Given the description of an element on the screen output the (x, y) to click on. 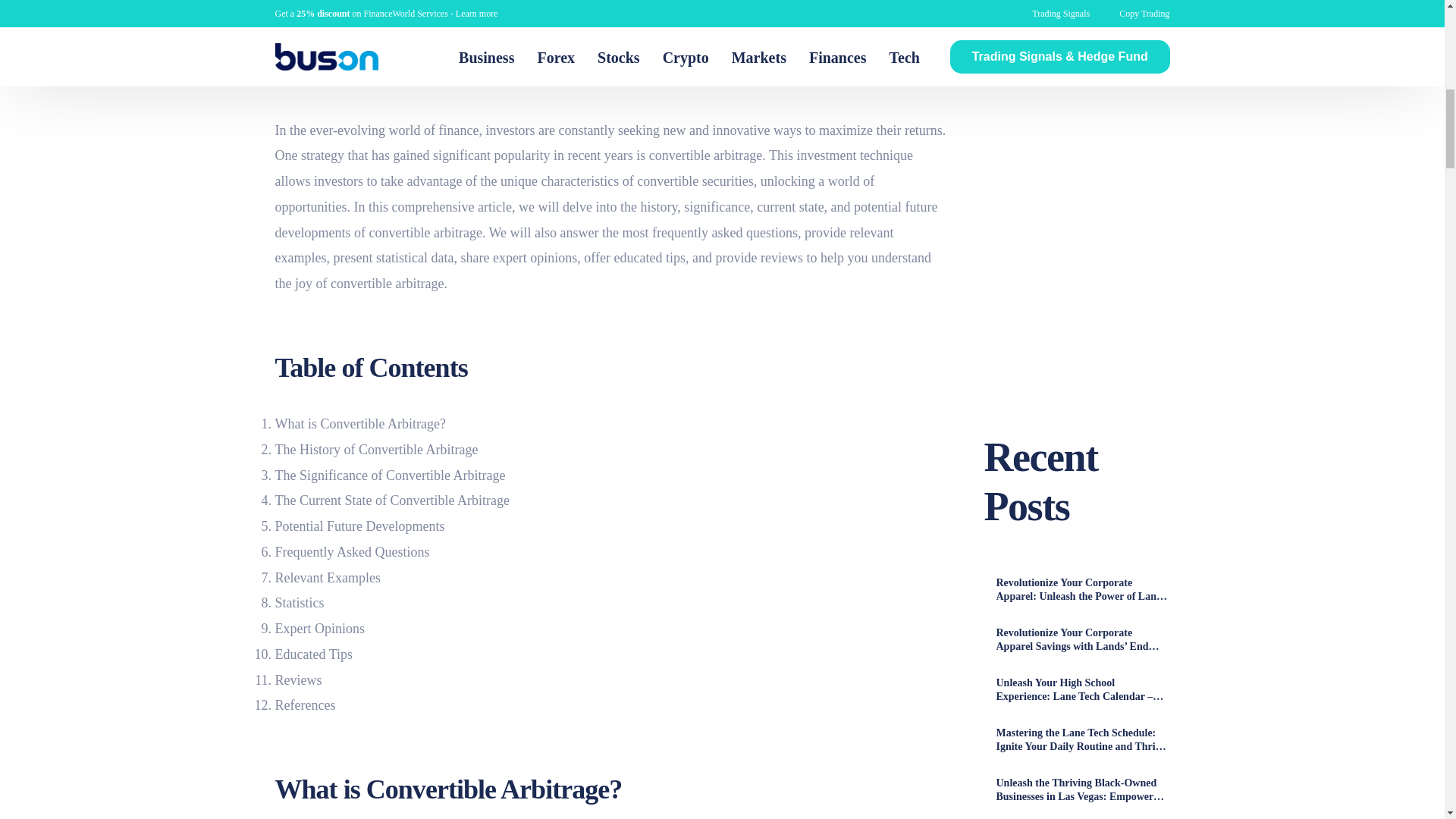
What is Convertible Arbitrage? (360, 423)
The History of Convertible Arbitrage (376, 449)
Relevant Examples (327, 577)
Frequently Asked Questions (352, 551)
The Current State of Convertible Arbitrage (391, 500)
Potential Future Developments (359, 525)
The Significance of Convertible Arbitrage (390, 475)
